Given the description of an element on the screen output the (x, y) to click on. 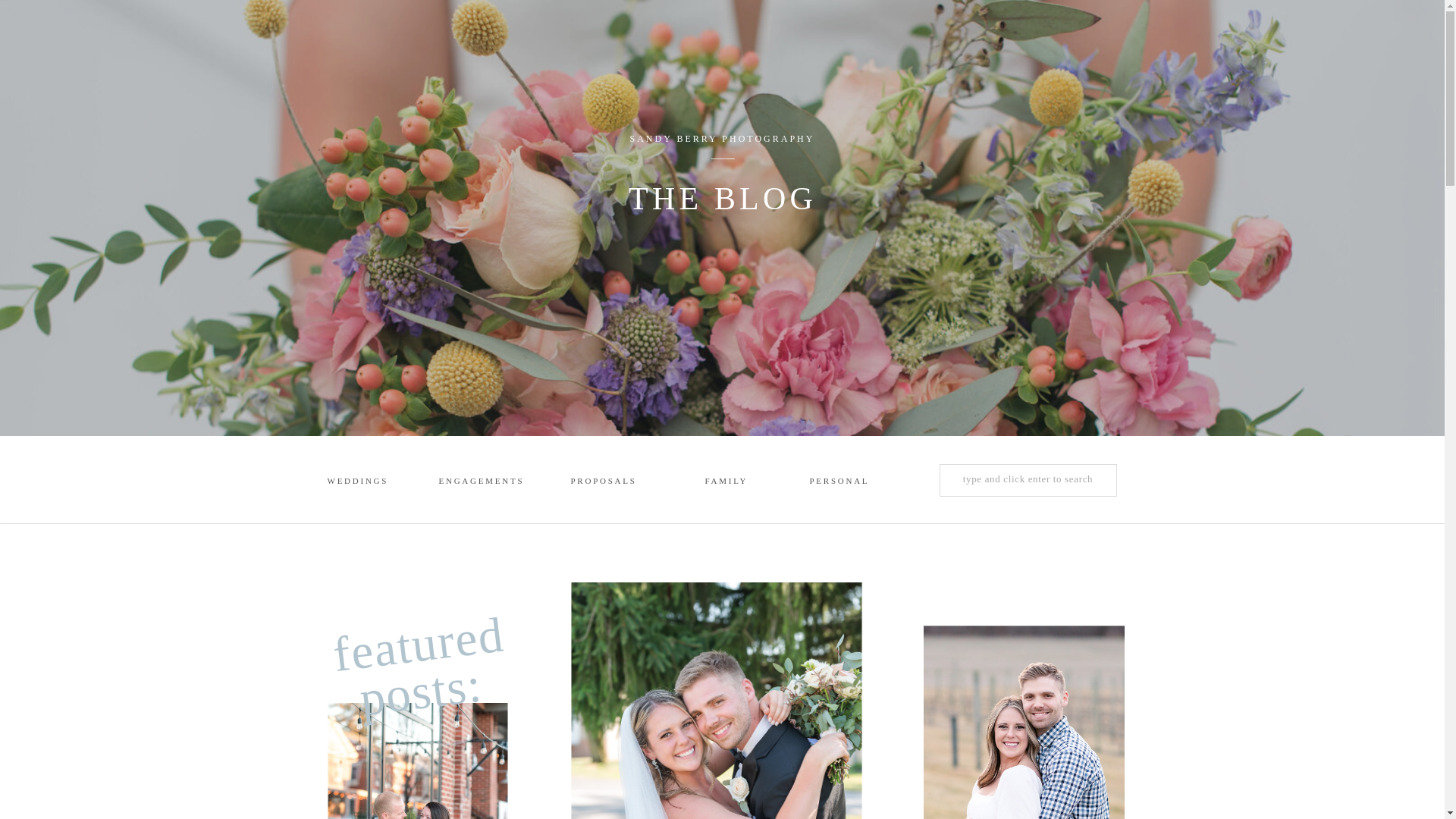
PERSONAL (838, 482)
PROPOSALS (598, 482)
WEDDINGS (357, 482)
ENGAGEMENTS (480, 482)
Sophie and Zach Downtown Lititz maternity session (417, 760)
FAMILY (734, 482)
